Given the description of an element on the screen output the (x, y) to click on. 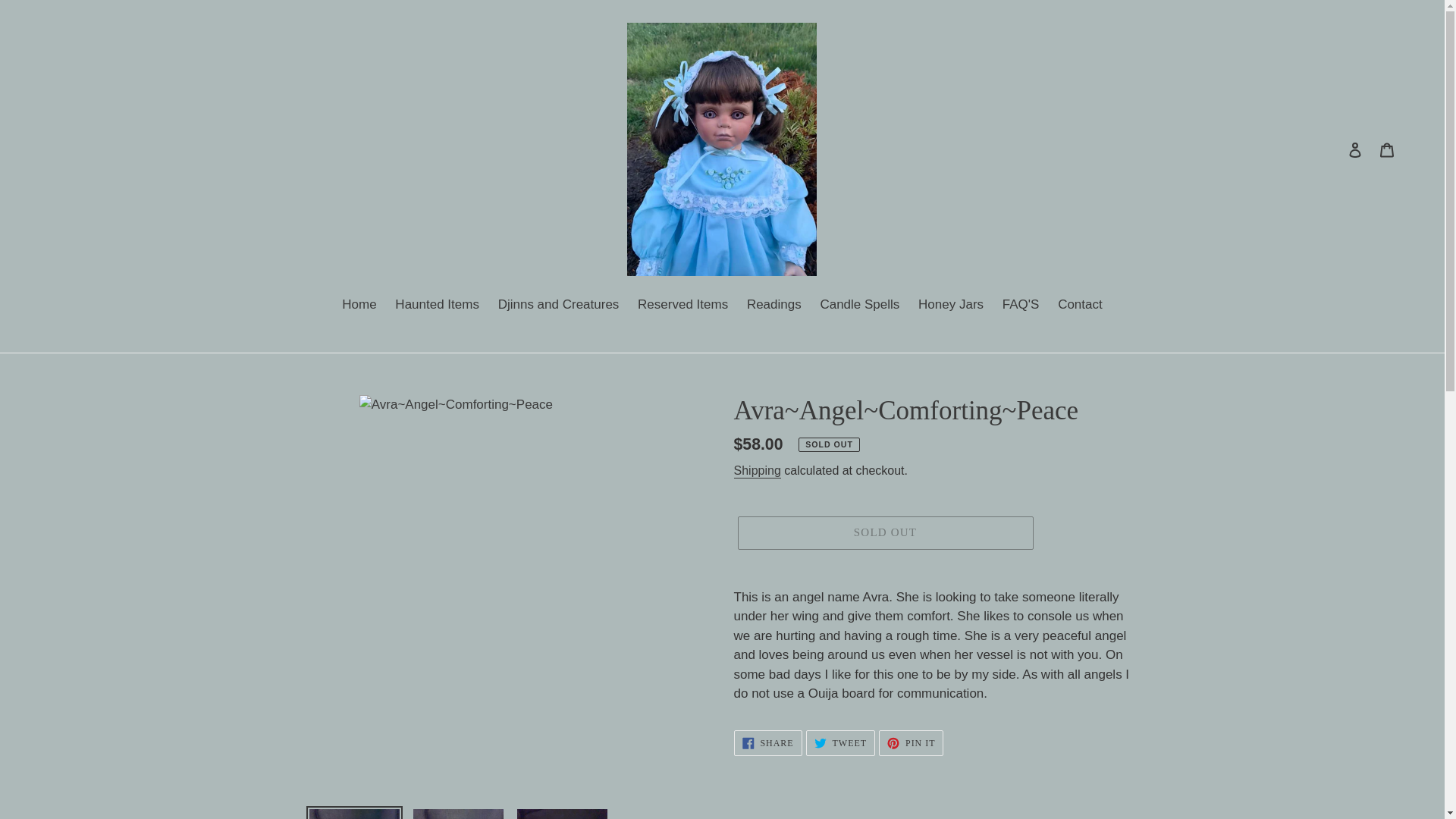
Contact (1079, 305)
Readings (774, 305)
Candle Spells (859, 305)
FAQ'S (1020, 305)
Log in (1355, 149)
Honey Jars (951, 305)
Shipping (767, 742)
Search (756, 471)
Djinns and Creatures (682, 305)
Cart (558, 305)
Home (1387, 149)
